Given the description of an element on the screen output the (x, y) to click on. 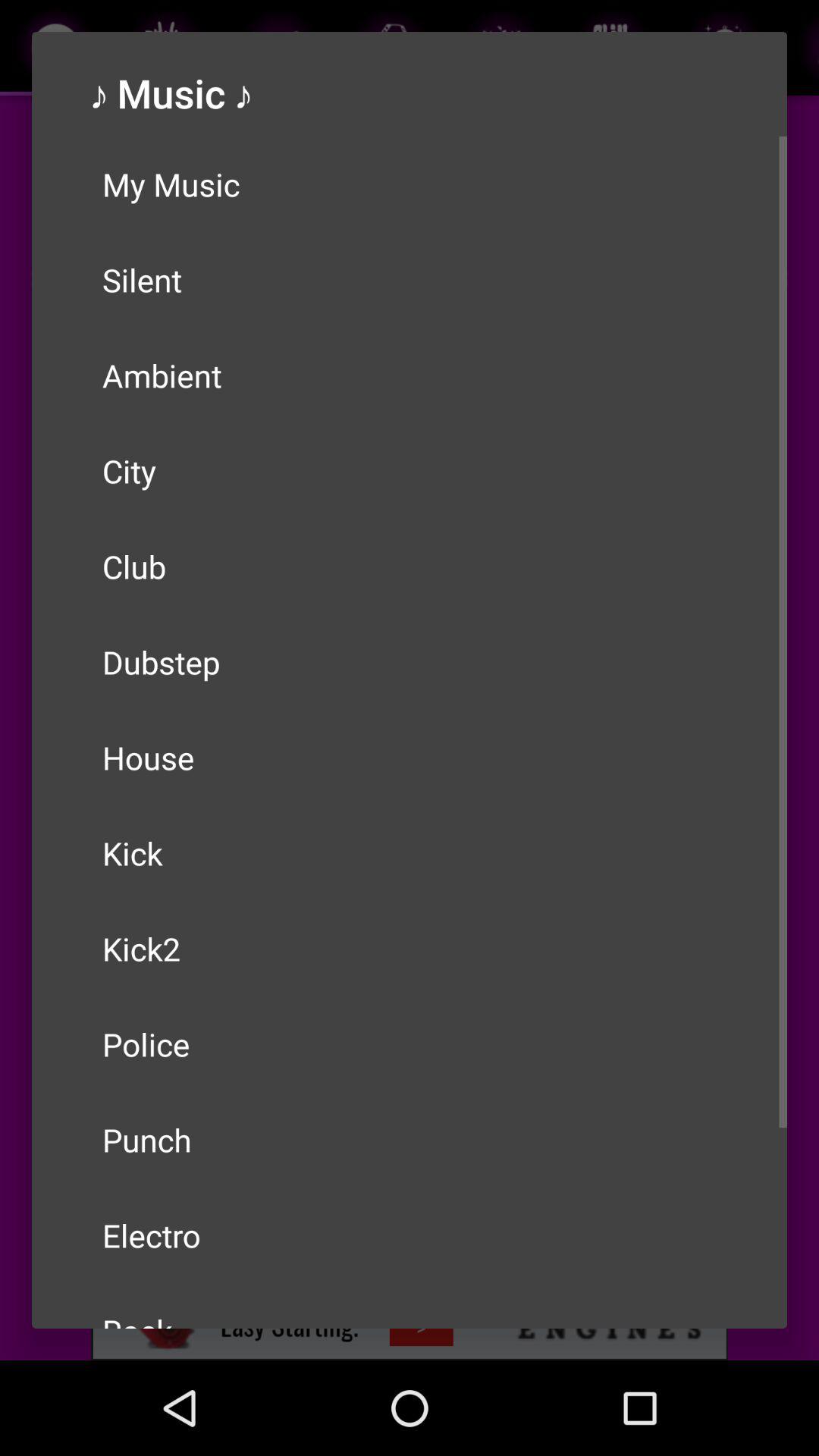
select the item below the 		ambient item (409, 470)
